Given the description of an element on the screen output the (x, y) to click on. 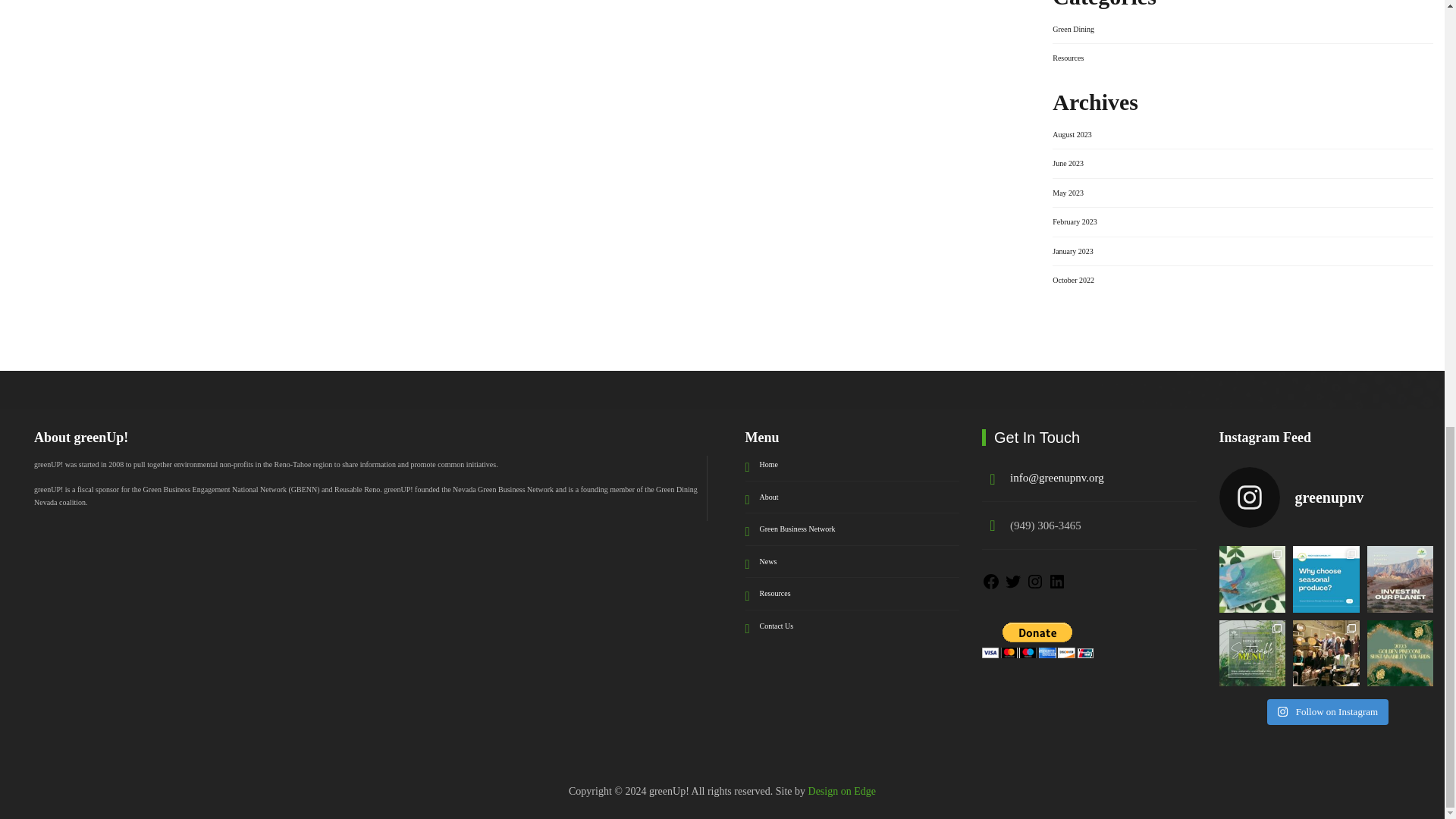
PayPal - The safer, easier way to pay online! (1037, 640)
